Given the description of an element on the screen output the (x, y) to click on. 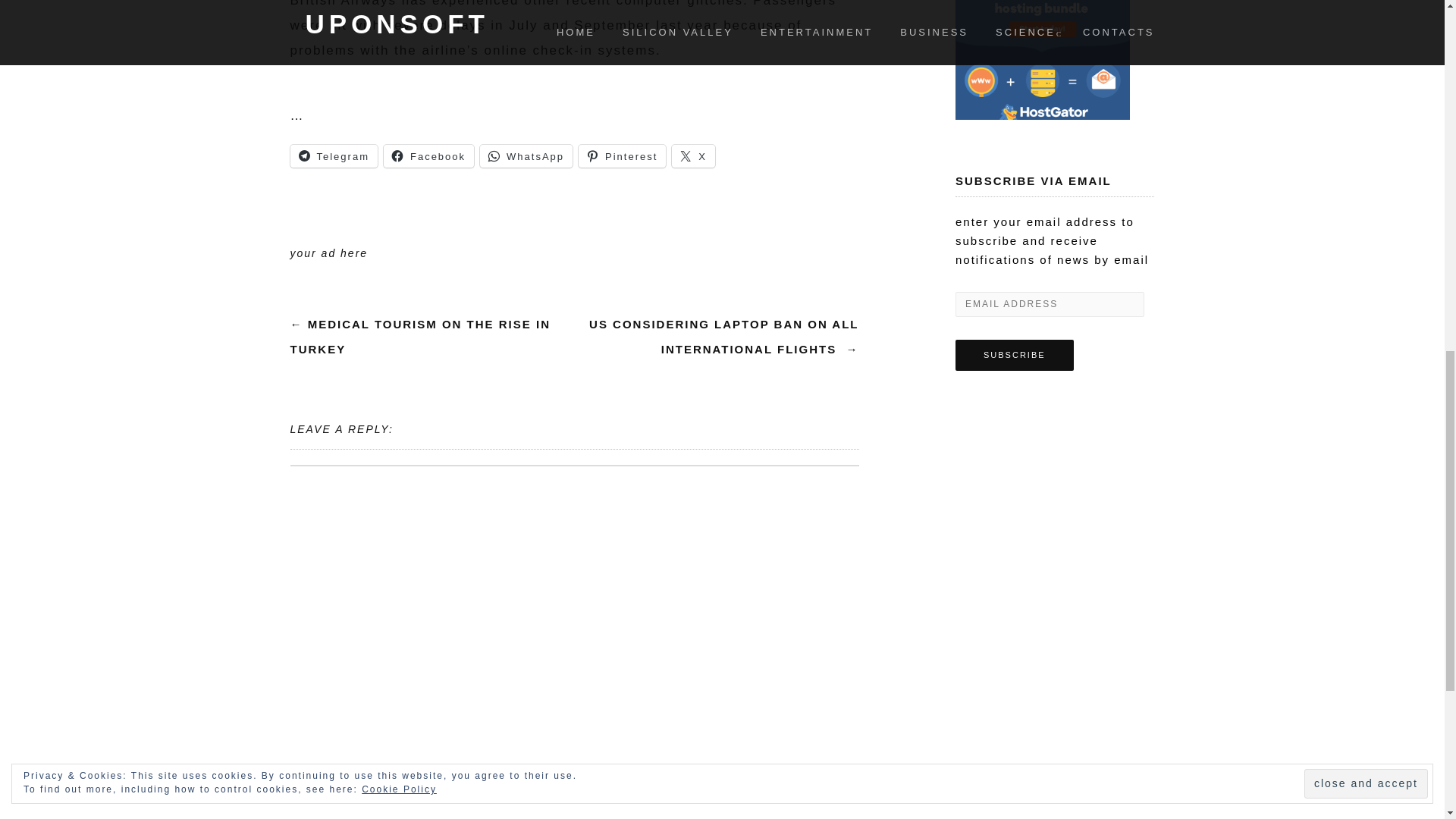
Click to share on X (692, 155)
Pinterest (621, 155)
Click to share on WhatsApp (526, 155)
your ad here (328, 253)
Telegram (333, 155)
Click to share on Facebook (429, 155)
WhatsApp (526, 155)
Facebook (429, 155)
Click to share on Telegram (333, 155)
